Given the description of an element on the screen output the (x, y) to click on. 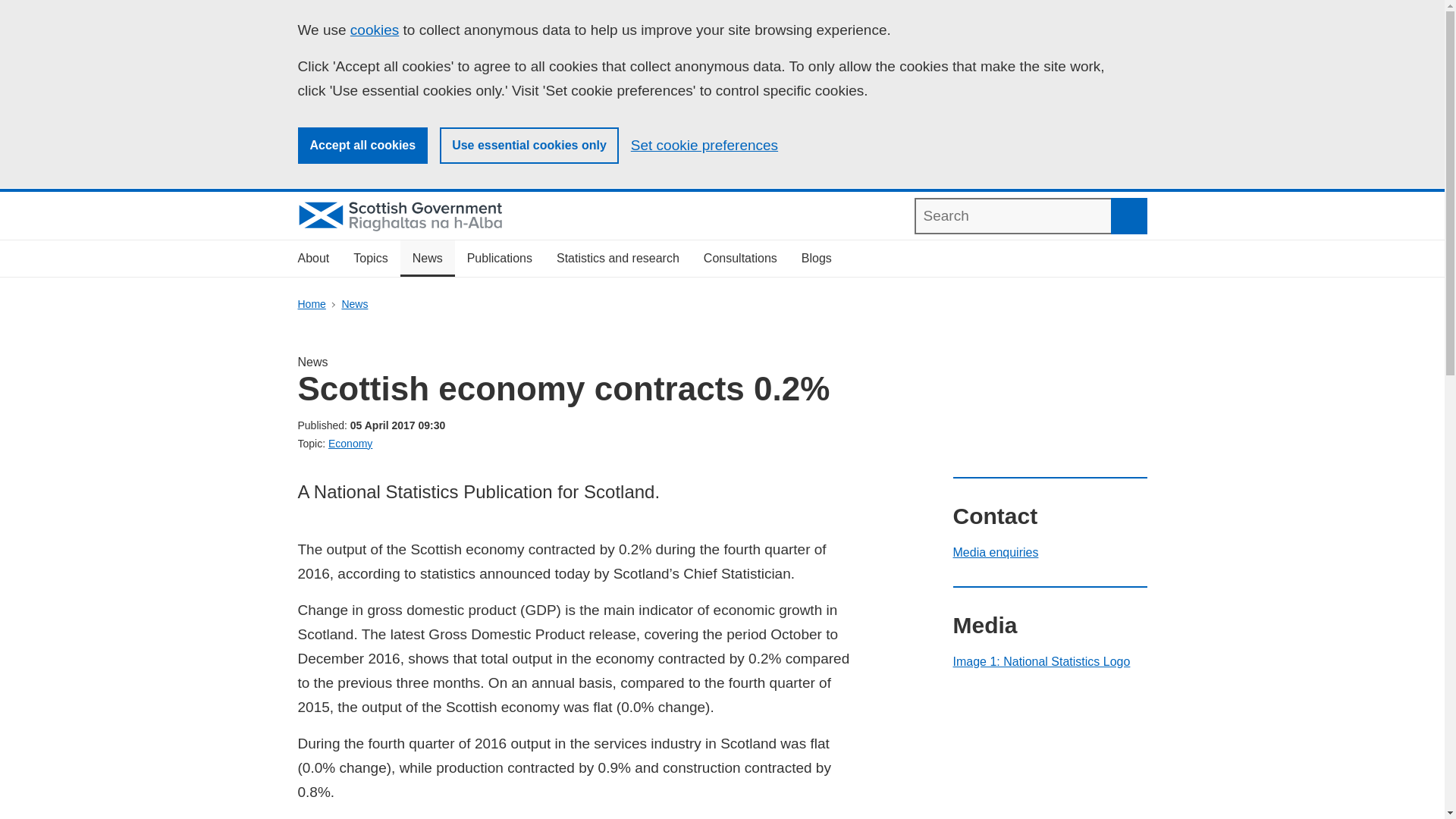
Set cookie preferences (703, 145)
Search (1128, 216)
Publications (499, 258)
Media enquiries (995, 552)
Blogs (816, 258)
About (312, 258)
Economy (350, 443)
News (354, 304)
cookies (374, 29)
Consultations (740, 258)
Accept all cookies (362, 145)
Home (310, 304)
Use essential cookies only (528, 145)
